Given the description of an element on the screen output the (x, y) to click on. 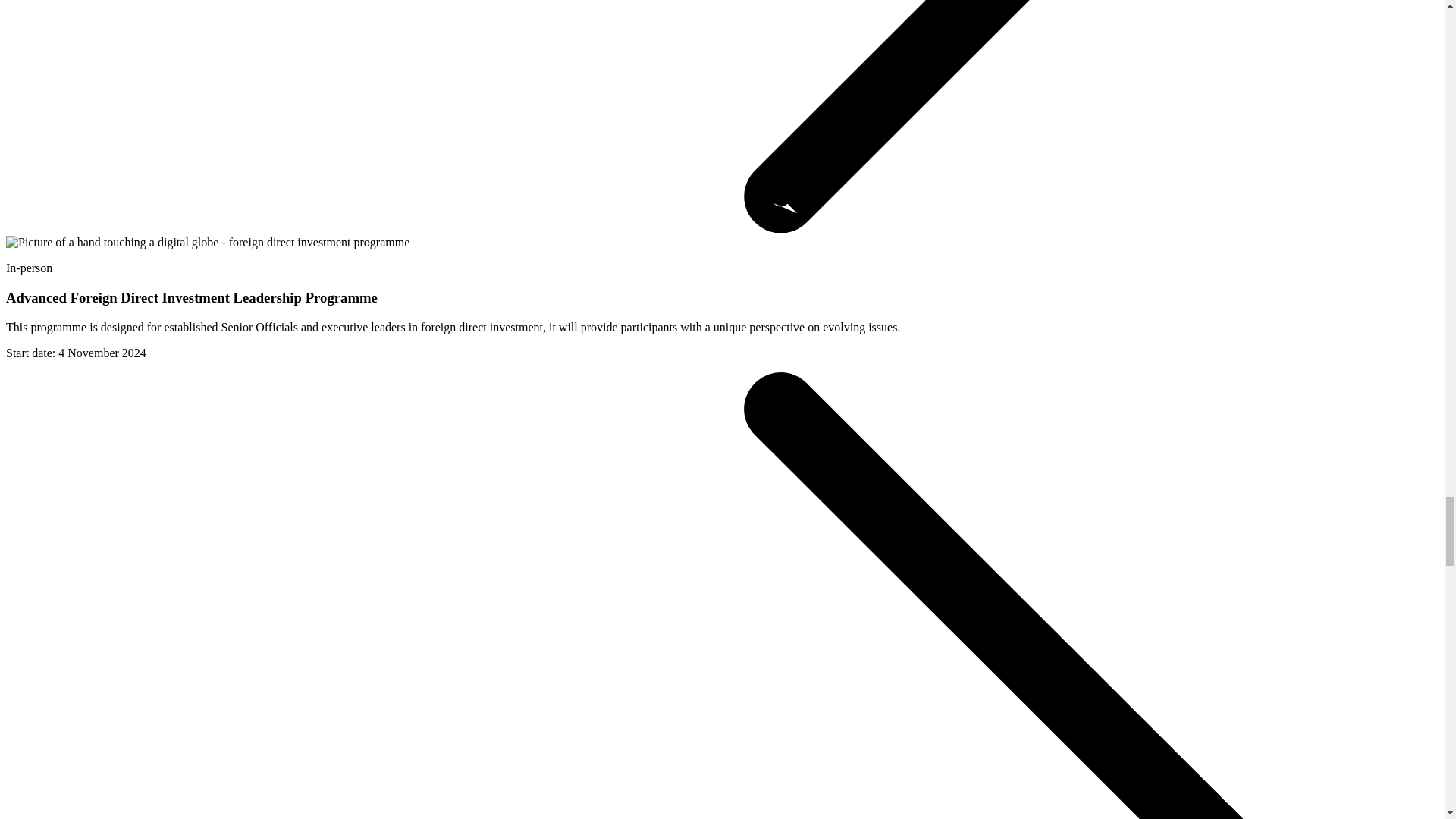
Global leadership (207, 242)
